Given the description of an element on the screen output the (x, y) to click on. 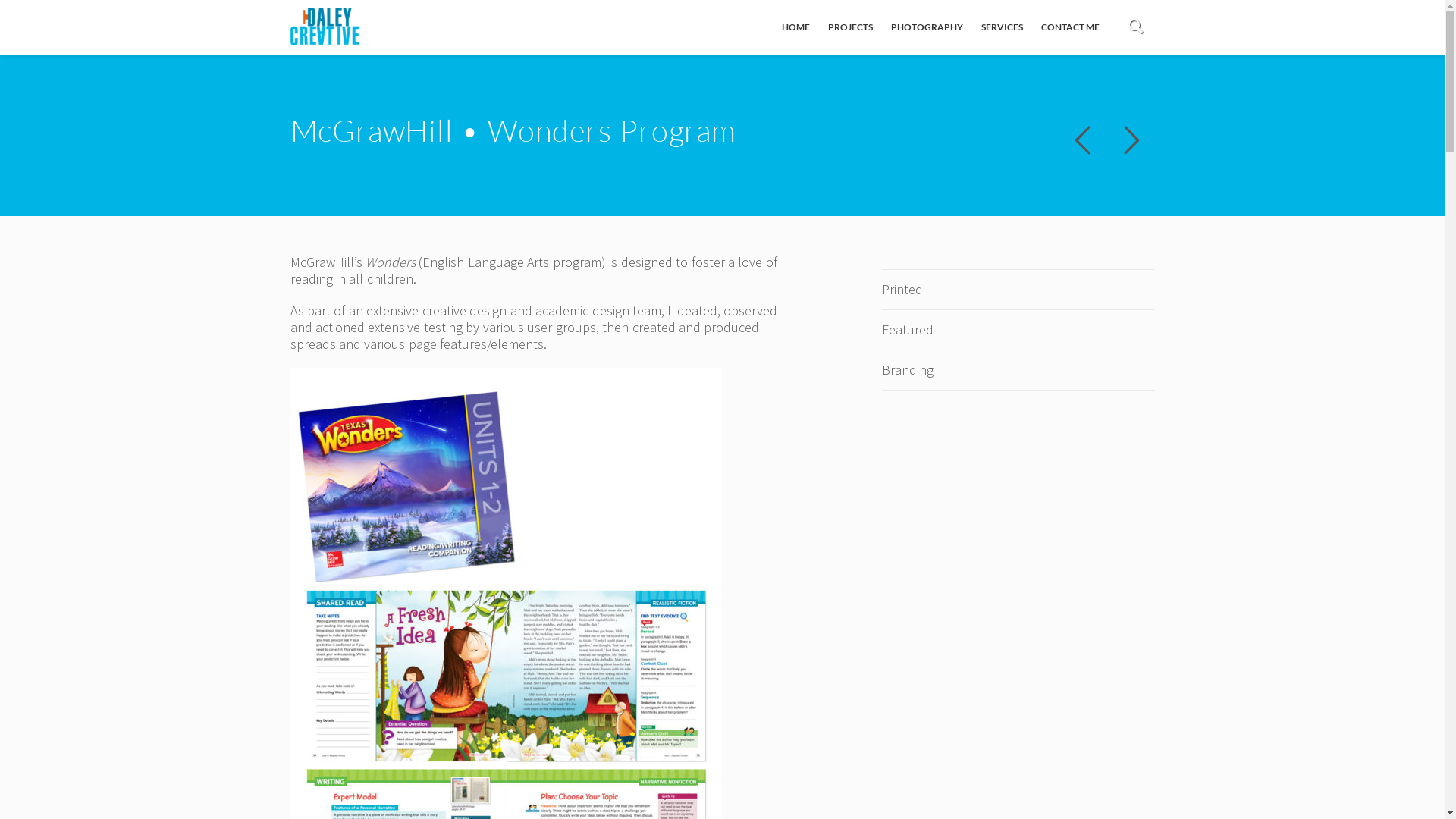
PROJECTS Element type: text (850, 27)
Branding Element type: text (906, 369)
Printed Element type: text (901, 289)
SERVICES Element type: text (1002, 27)
CONTACT ME Element type: text (1070, 27)
HOME Element type: text (795, 27)
PHOTOGRAPHY Element type: text (926, 27)
Featured Element type: text (906, 329)
